Given the description of an element on the screen output the (x, y) to click on. 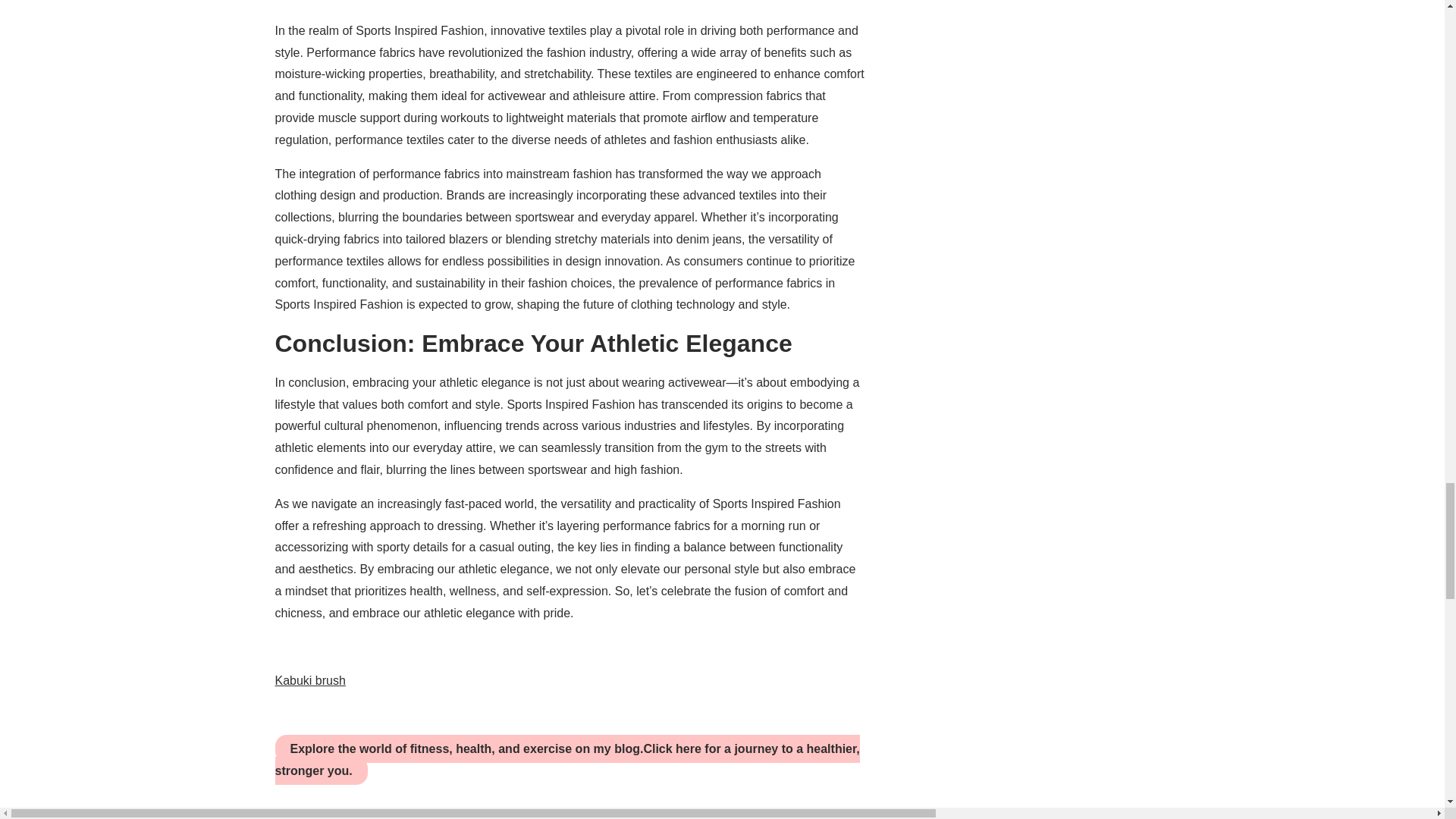
Sports fashion (544, 814)
Trends (628, 814)
Fashion (308, 814)
Fashion (384, 814)
Inspired (457, 814)
Kabuki brush (310, 680)
